Given the description of an element on the screen output the (x, y) to click on. 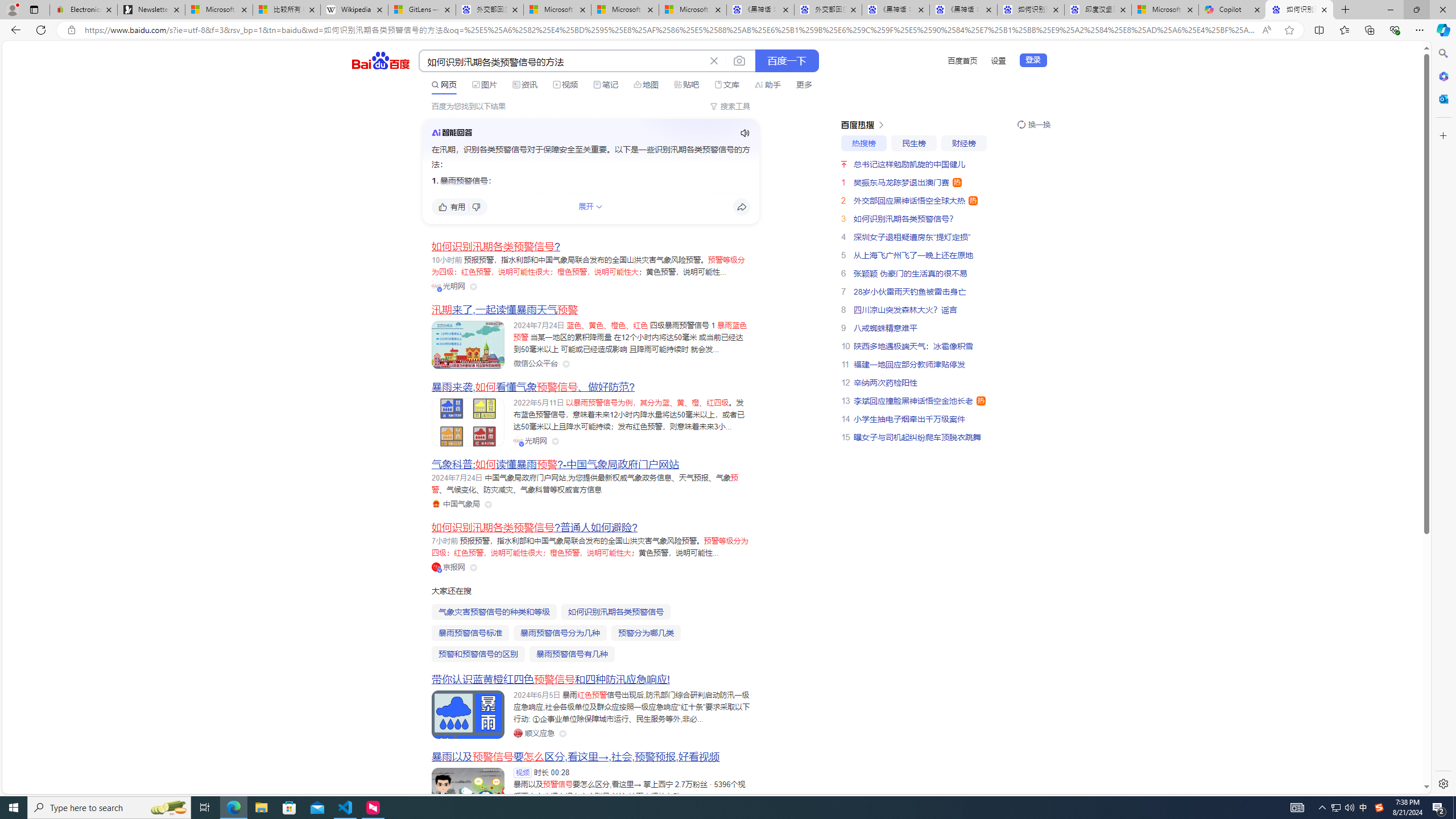
Wikipedia (354, 9)
Class: vip-icon_kNmNt (439, 570)
